Given the description of an element on the screen output the (x, y) to click on. 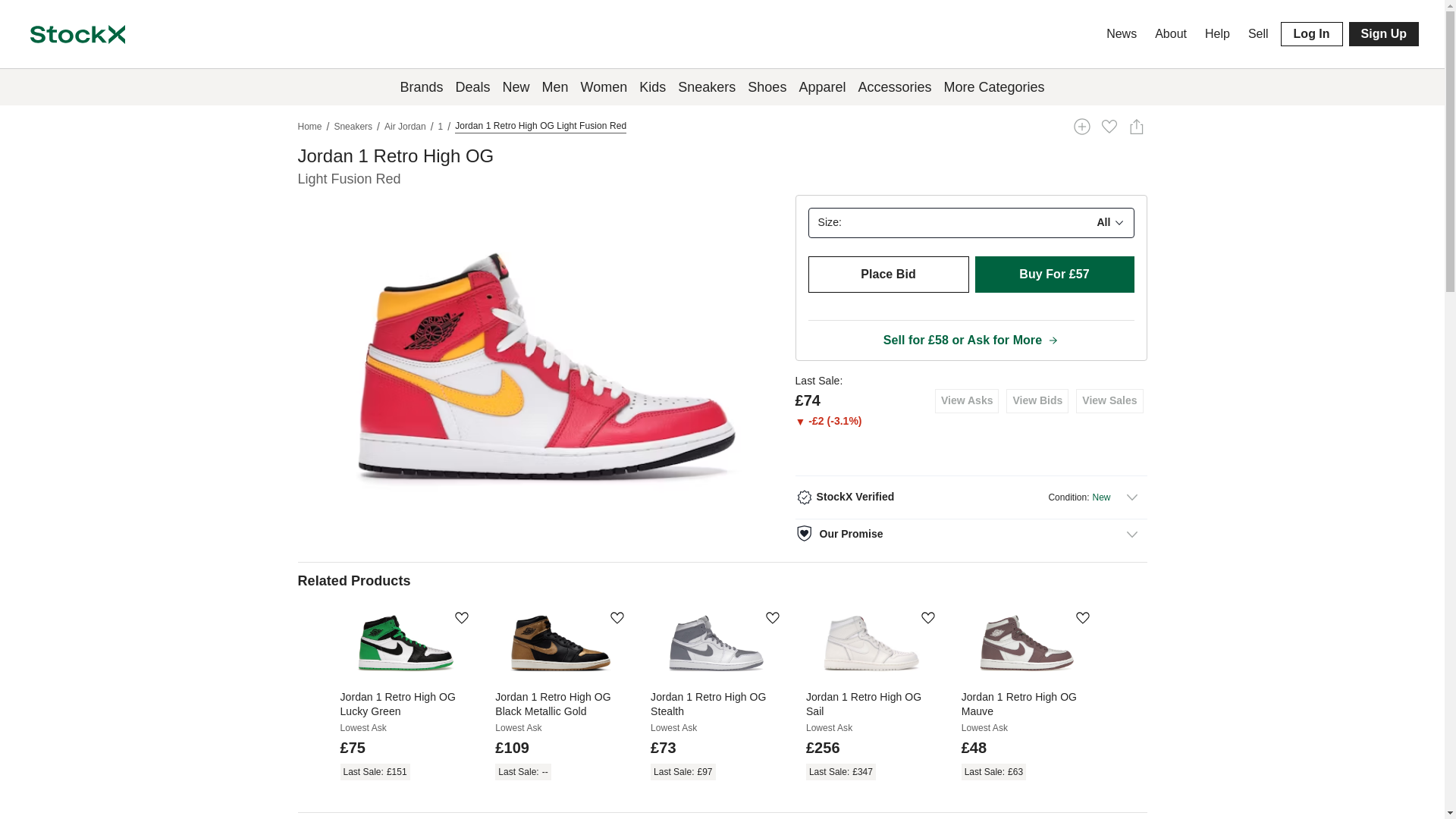
Help (1217, 33)
StockX Logo (77, 34)
About (1170, 33)
Sign Up (1383, 33)
StockX Logo (77, 34)
StockX Logo (77, 33)
Log In (1311, 33)
News (1121, 33)
Sell (1258, 33)
